Given the description of an element on the screen output the (x, y) to click on. 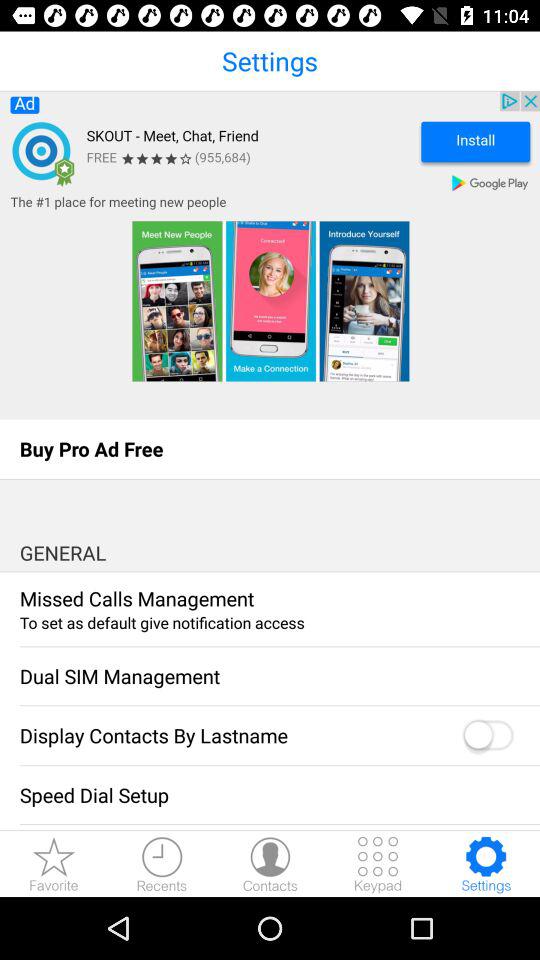
recents downloads button (161, 864)
